Given the description of an element on the screen output the (x, y) to click on. 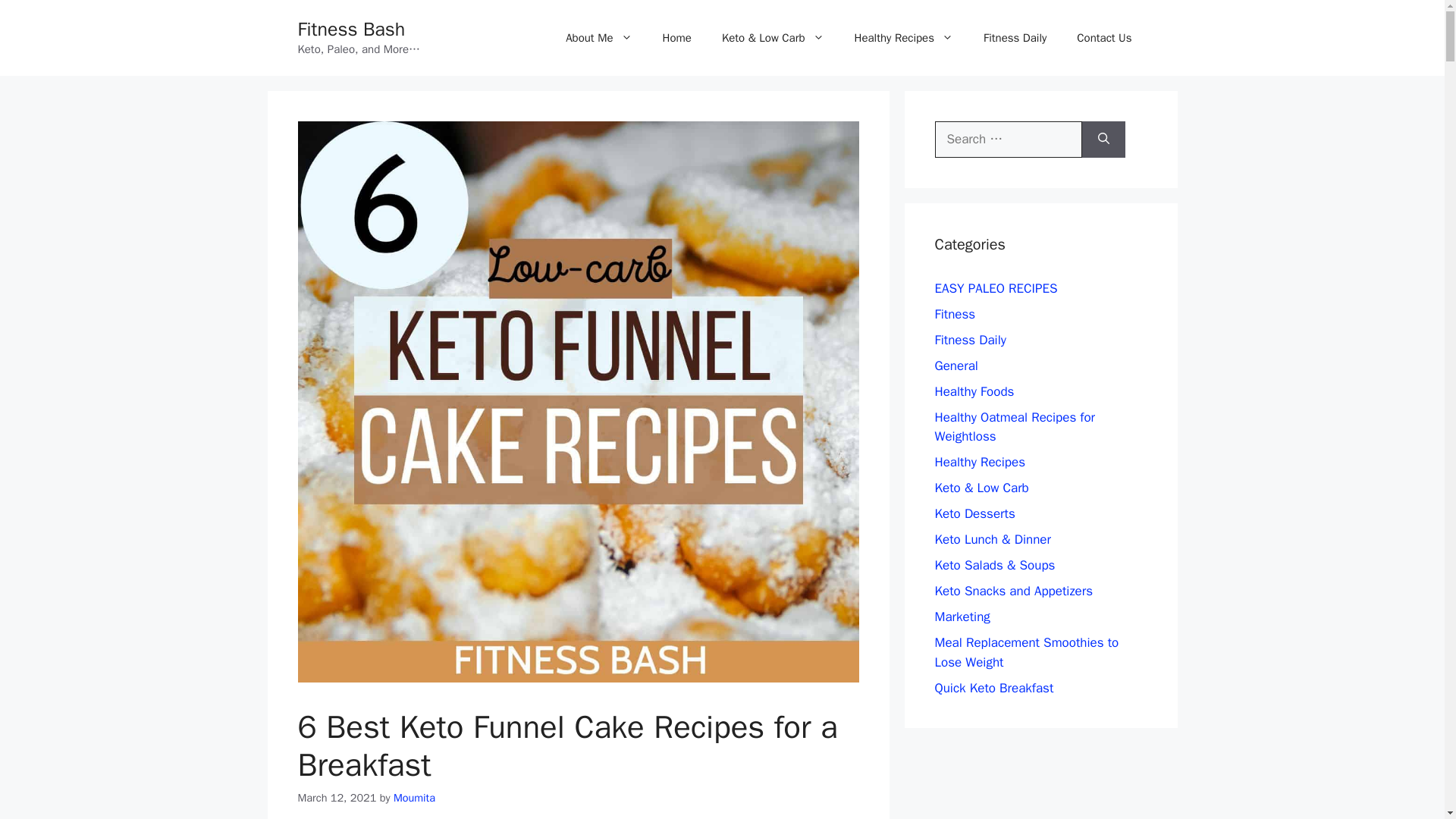
Home (676, 37)
Moumita (414, 797)
Fitness Bash (350, 28)
About Me (598, 37)
Healthy Recipes (904, 37)
Fitness Daily (1014, 37)
View all posts by Moumita (414, 797)
Contact Us (1104, 37)
Search for: (1007, 139)
